Given the description of an element on the screen output the (x, y) to click on. 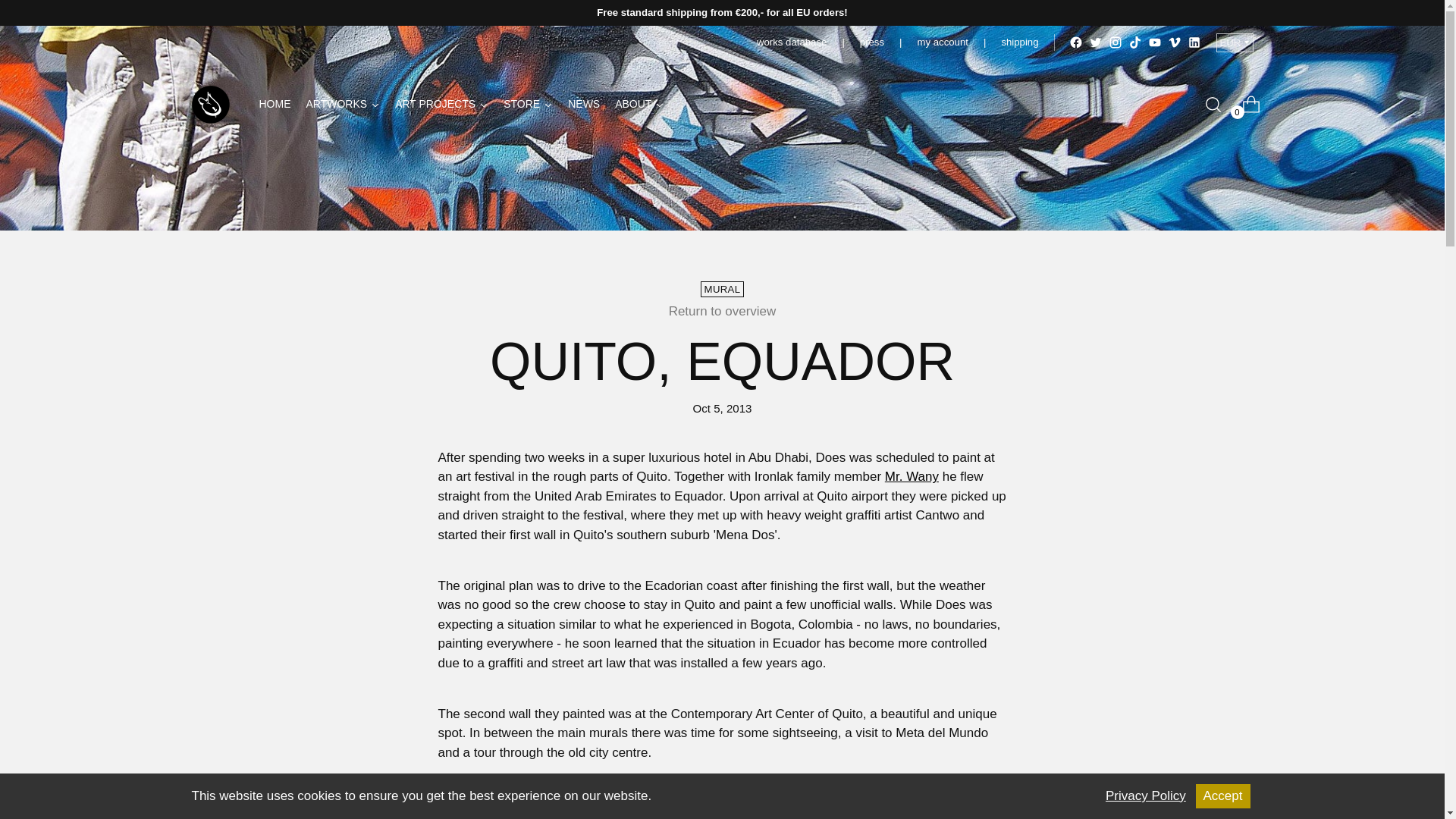
0 (1245, 104)
Digital DOES on LinkedIn (1194, 42)
ARTWORKS (343, 103)
my account (942, 41)
Digital DOES on Twitter (1095, 42)
ART PROJECTS (441, 103)
Digital DOES on Facebook (1075, 42)
Digital DOES on YouTube (461, 103)
Digital DOES on Instagram (1154, 42)
Digital DOES on Vimeo (1115, 42)
Digital DOES on Tiktok (1173, 42)
works database (1134, 42)
ARTWORKS (792, 41)
shipping (343, 103)
